Given the description of an element on the screen output the (x, y) to click on. 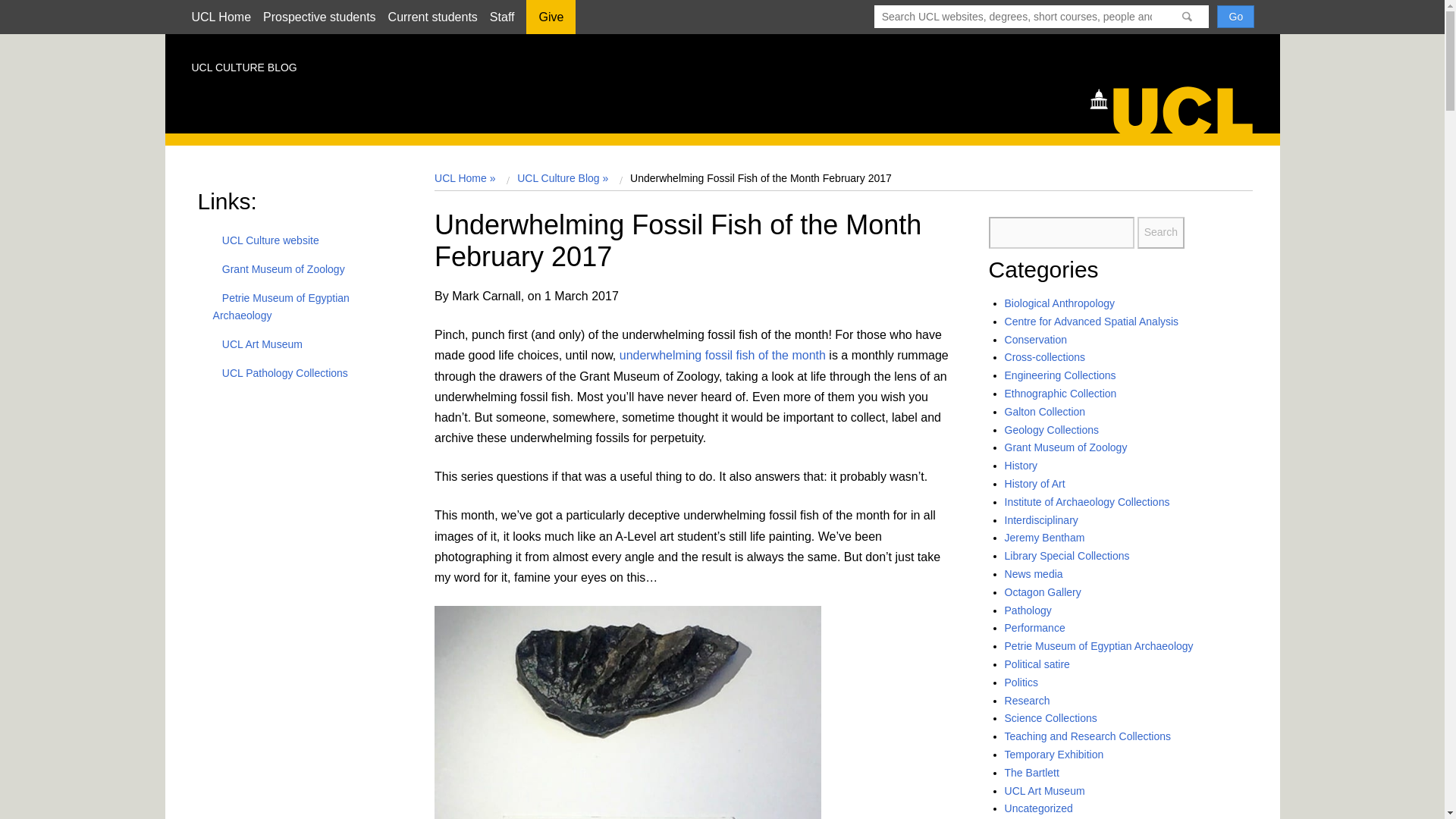
UCL Home (220, 16)
Go (1235, 15)
Search (1161, 232)
Go (1235, 15)
UCL Culture website (265, 240)
underwhelming fossil fish of the month (722, 354)
Give (550, 22)
Go (1235, 15)
Petrie Museum of Egyptian Archaeology (280, 306)
UCL Art Museum (257, 344)
Staff (502, 16)
UCL Pathology Collections (279, 372)
Home (1178, 108)
Current students (432, 16)
Grant Museum of Zoology (278, 268)
